Given the description of an element on the screen output the (x, y) to click on. 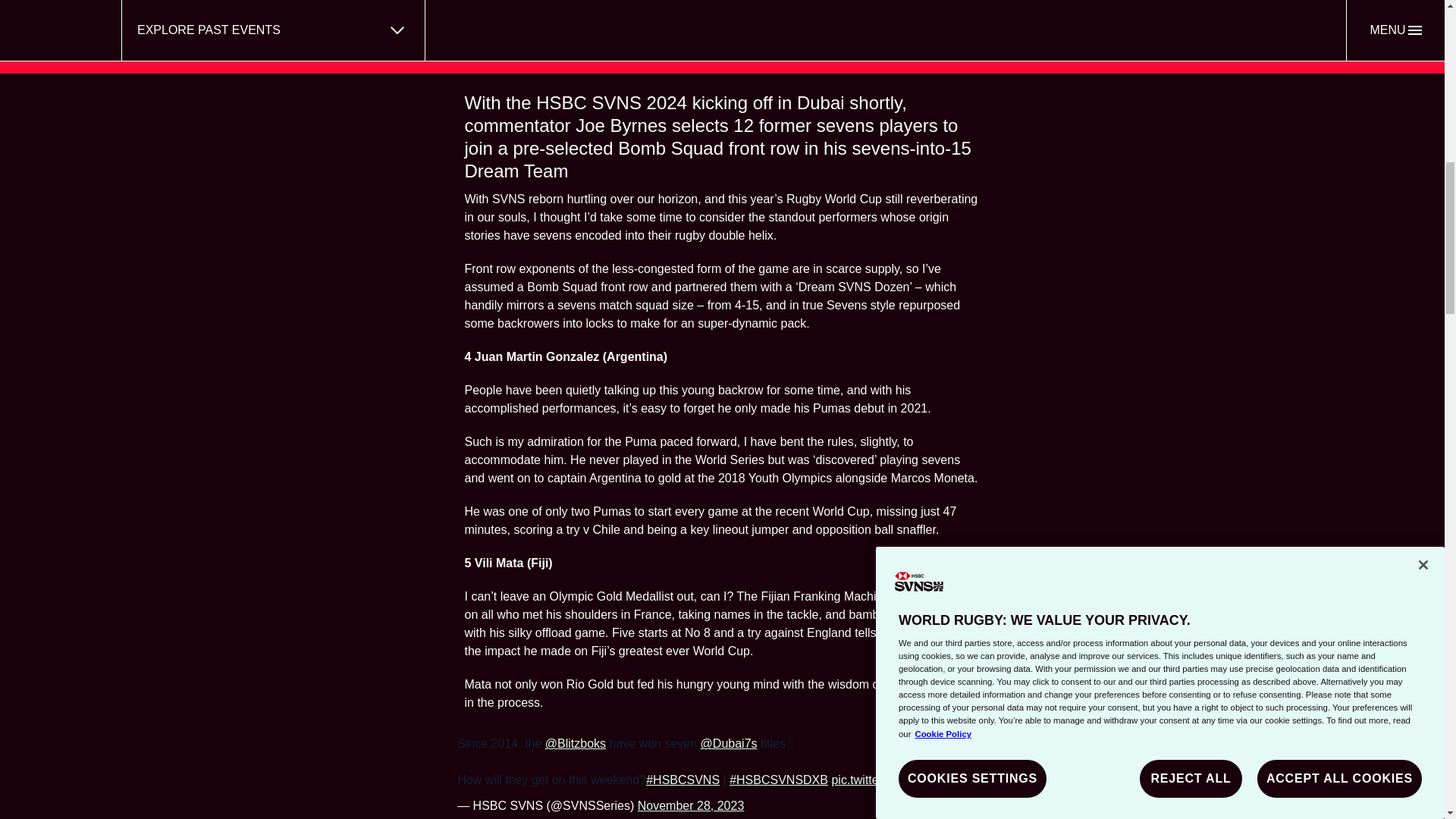
November 28, 2023 (690, 805)
Embedded Tweet (722, 773)
